Given the description of an element on the screen output the (x, y) to click on. 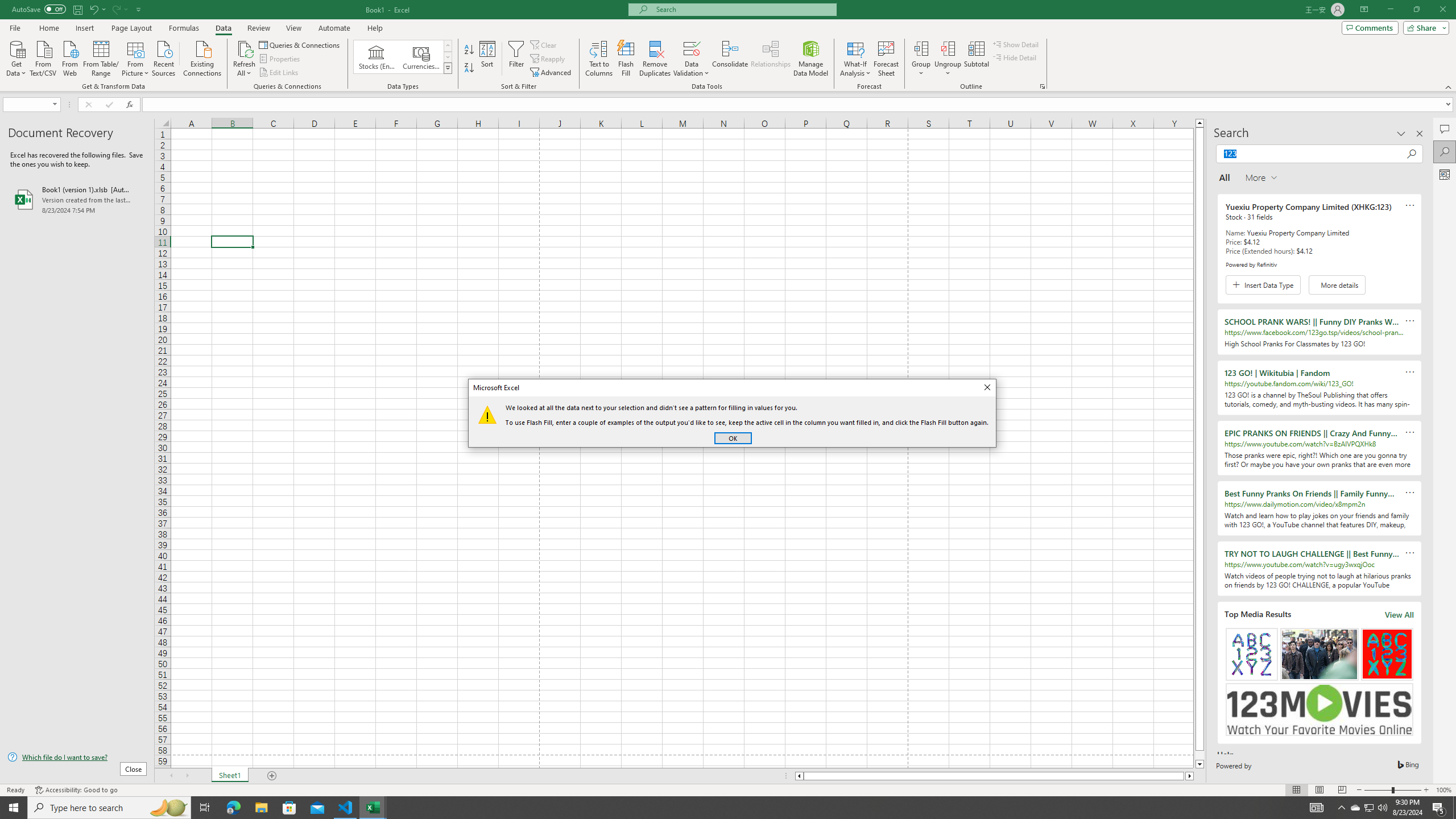
Visual Studio Code - 1 running window (345, 807)
Microsoft Store (289, 807)
